Given the description of an element on the screen output the (x, y) to click on. 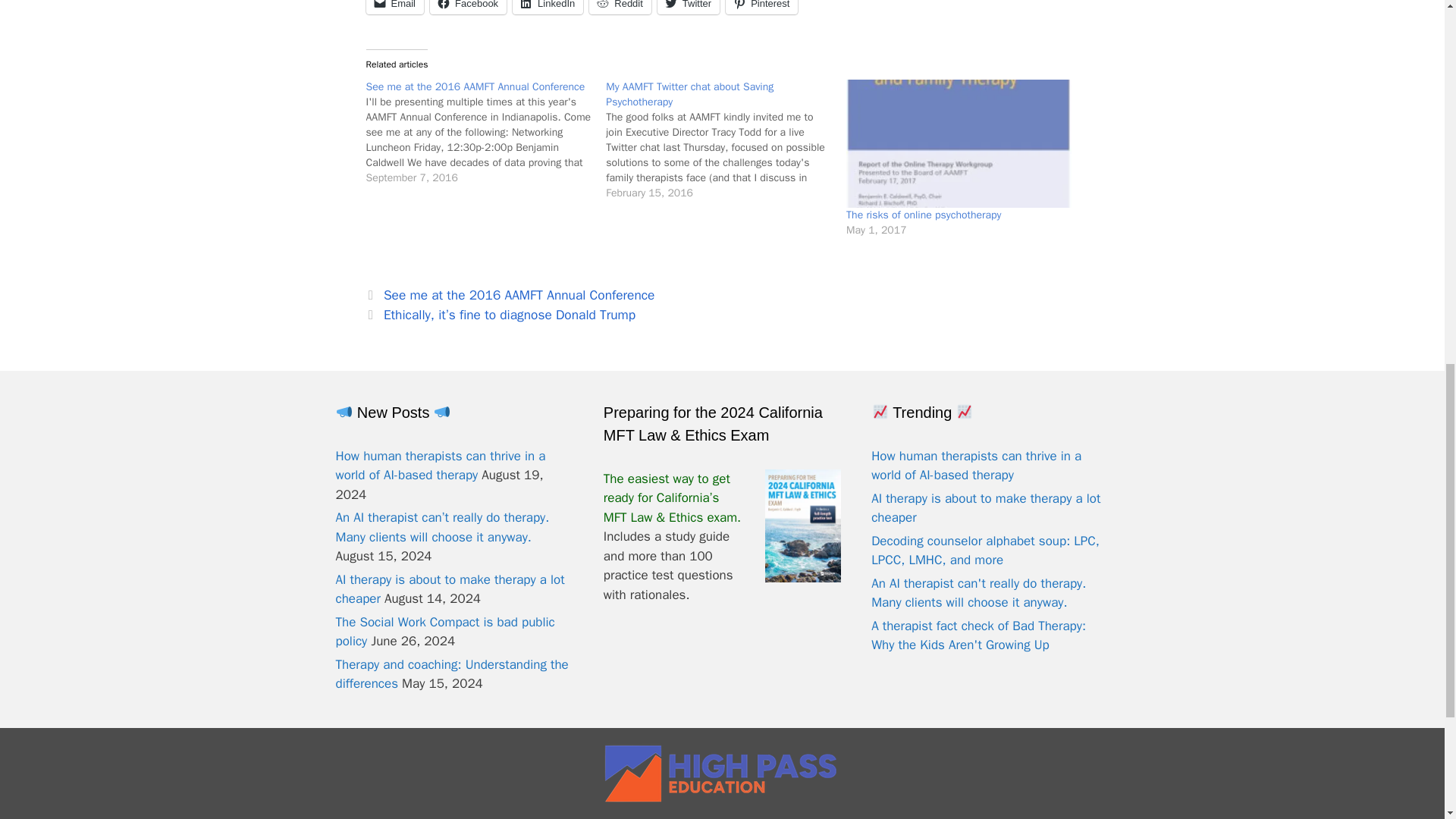
Click to share on Twitter (688, 7)
The risks of online psychotherapy (923, 214)
Click to share on LinkedIn (547, 7)
See me at the 2016 AAMFT Annual Conference (475, 86)
Click to share on Pinterest (761, 7)
See me at the 2016 AAMFT Annual Conference (485, 131)
Click to share on Reddit (619, 7)
The risks of online psychotherapy (958, 143)
Click to share on Facebook (467, 7)
My AAMFT Twitter chat about Saving Psychotherapy (725, 138)
